Given the description of an element on the screen output the (x, y) to click on. 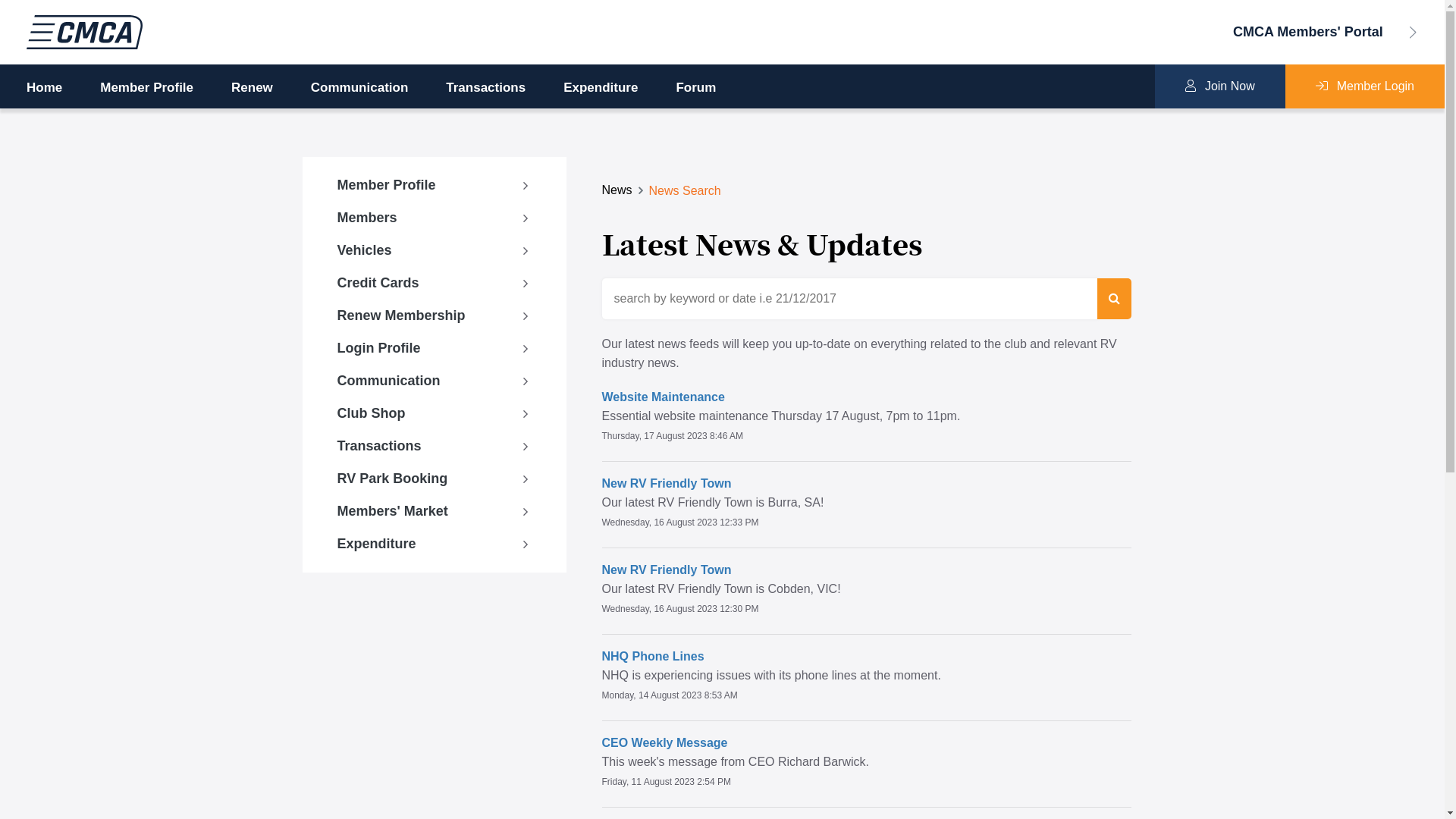
Home Element type: text (44, 87)
Renew Element type: text (252, 87)
News Element type: text (617, 189)
Transactions Element type: text (485, 87)
Member Login Element type: text (1364, 86)
Join Now Element type: text (1219, 86)
Login Profile Element type: text (434, 348)
Website Maintenance Element type: text (663, 396)
Forum Element type: text (695, 87)
NHQ Phone Lines Element type: text (653, 655)
Member Profile Element type: text (434, 185)
Renew Membership Element type: text (434, 315)
RV Park Booking Element type: text (434, 478)
Communication Element type: text (434, 380)
Transactions Element type: text (434, 445)
Vehicles Element type: text (434, 250)
New RV Friendly Town Element type: text (666, 569)
Expenditure Element type: text (434, 543)
New RV Friendly Town Element type: text (666, 482)
Members' Market Element type: text (434, 511)
Credit Cards Element type: text (434, 282)
Communication Element type: text (358, 87)
Members Element type: text (434, 217)
Member Profile Element type: text (146, 87)
CEO Weekly Message Element type: text (665, 742)
Club Shop Element type: text (434, 413)
Expenditure Element type: text (600, 87)
